Given the description of an element on the screen output the (x, y) to click on. 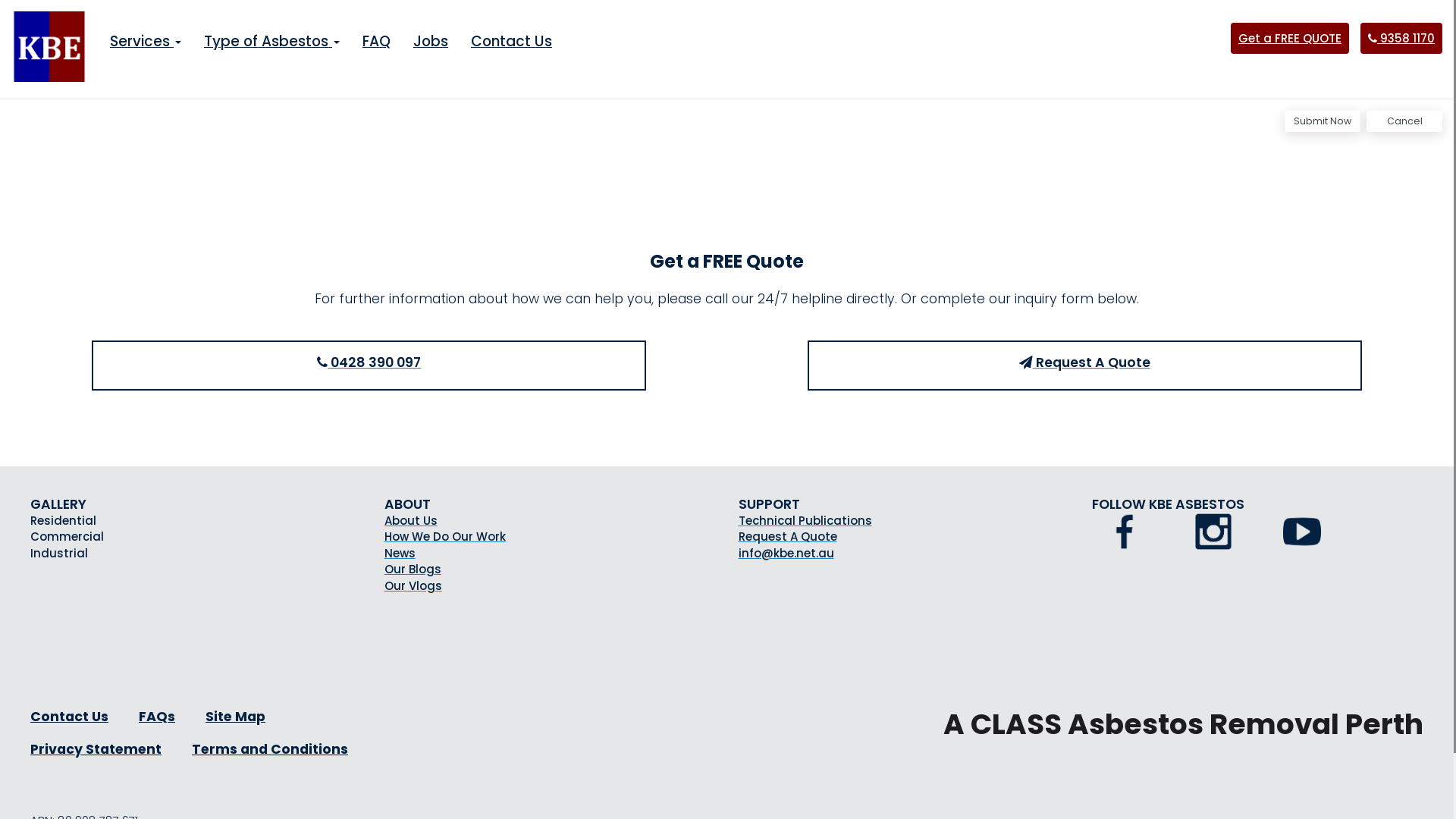
Type of Asbestos Element type: text (271, 41)
Our Blogs Element type: text (549, 569)
info@kbe.net.au Element type: text (904, 553)
Terms and Conditions Element type: text (269, 749)
Jobs Element type: text (430, 41)
FAQ Element type: text (376, 41)
Request A Quote Element type: text (904, 536)
Site Map Element type: text (235, 716)
About Us Element type: text (549, 520)
FAQs Element type: text (156, 716)
Request A Quote Element type: text (1084, 365)
Get a FREE QUOTE Element type: text (1289, 38)
Contact Us Element type: text (511, 41)
Privacy Statement Element type: text (95, 749)
Submit Now Element type: text (1322, 120)
Contact Us Element type: text (69, 716)
Technical Publications Element type: text (904, 520)
Services Element type: text (145, 41)
0428 390 097 Element type: text (368, 365)
Cancel Element type: text (1404, 120)
How We Do Our Work Element type: text (549, 536)
News Element type: text (549, 553)
Our Vlogs Element type: text (549, 585)
9358 1170 Element type: text (1401, 38)
